Given the description of an element on the screen output the (x, y) to click on. 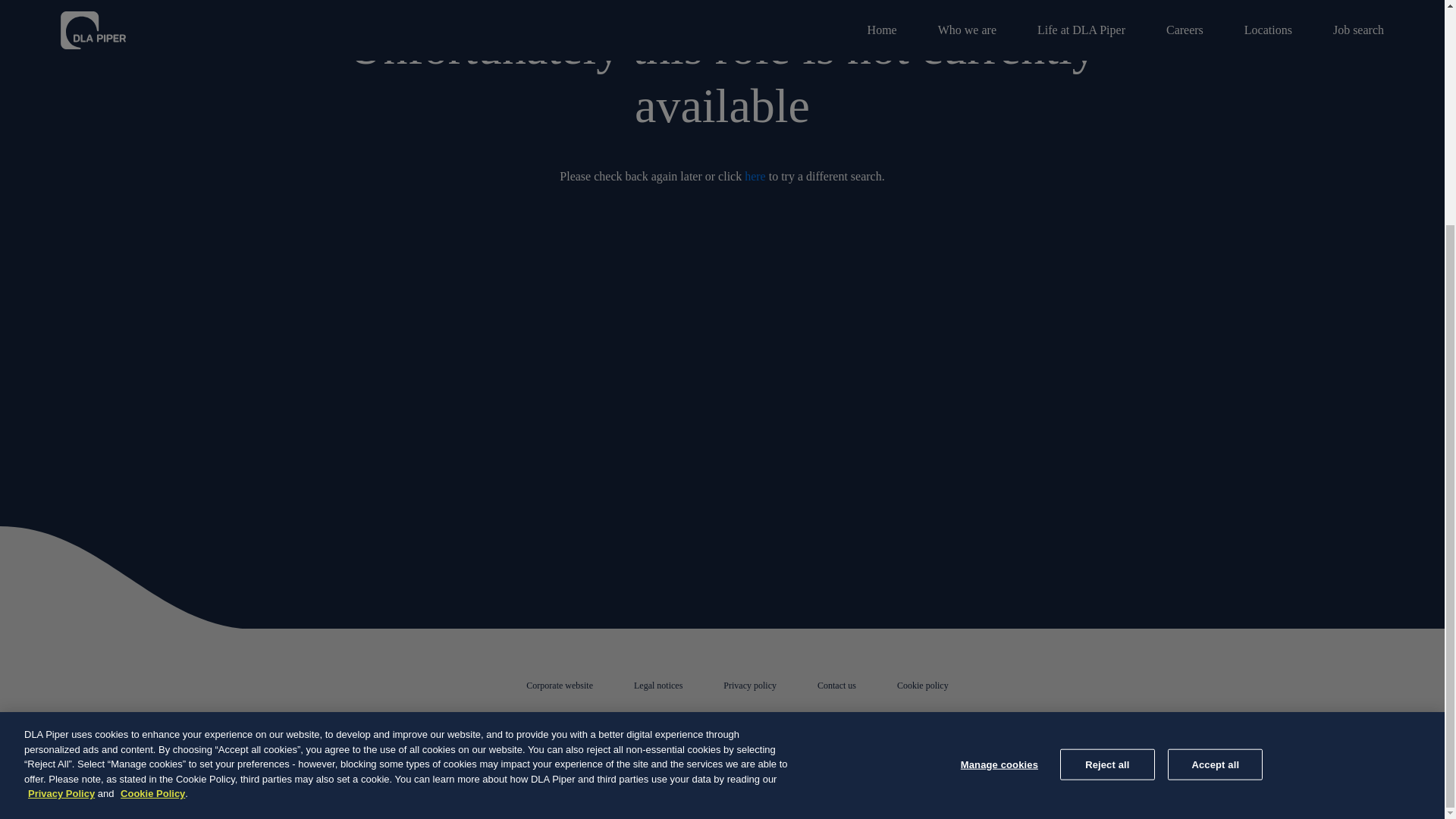
Cookie Policy (152, 492)
Privacy Policy (60, 492)
Corporate website (558, 685)
Legal notices (657, 685)
Cookie policy (922, 685)
here (754, 175)
Accept all (1214, 463)
Contact us (836, 685)
Reject all (1106, 463)
Manage cookies (999, 463)
